Given the description of an element on the screen output the (x, y) to click on. 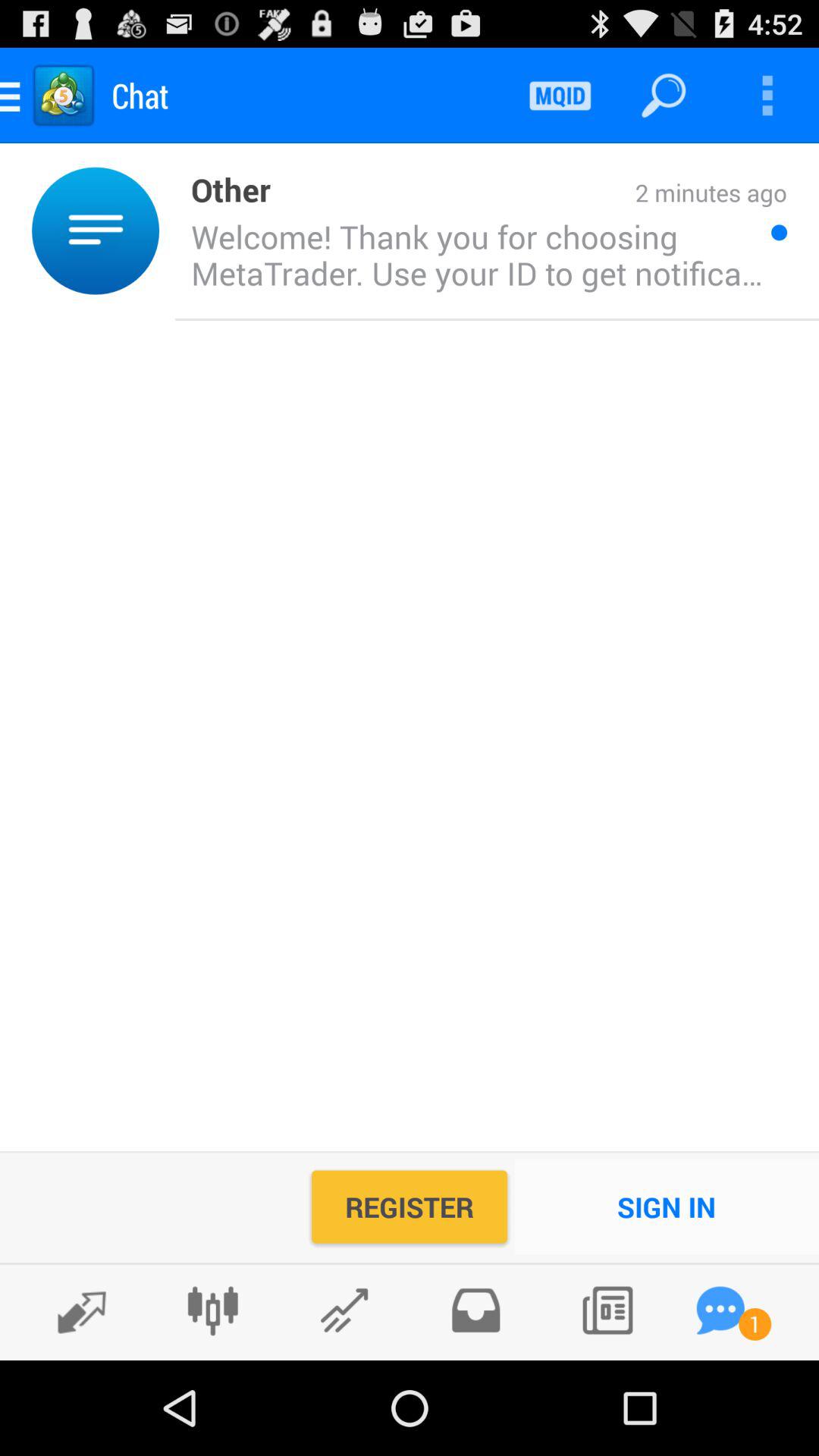
select the item below the 2 minutes ago (473, 253)
